Given the description of an element on the screen output the (x, y) to click on. 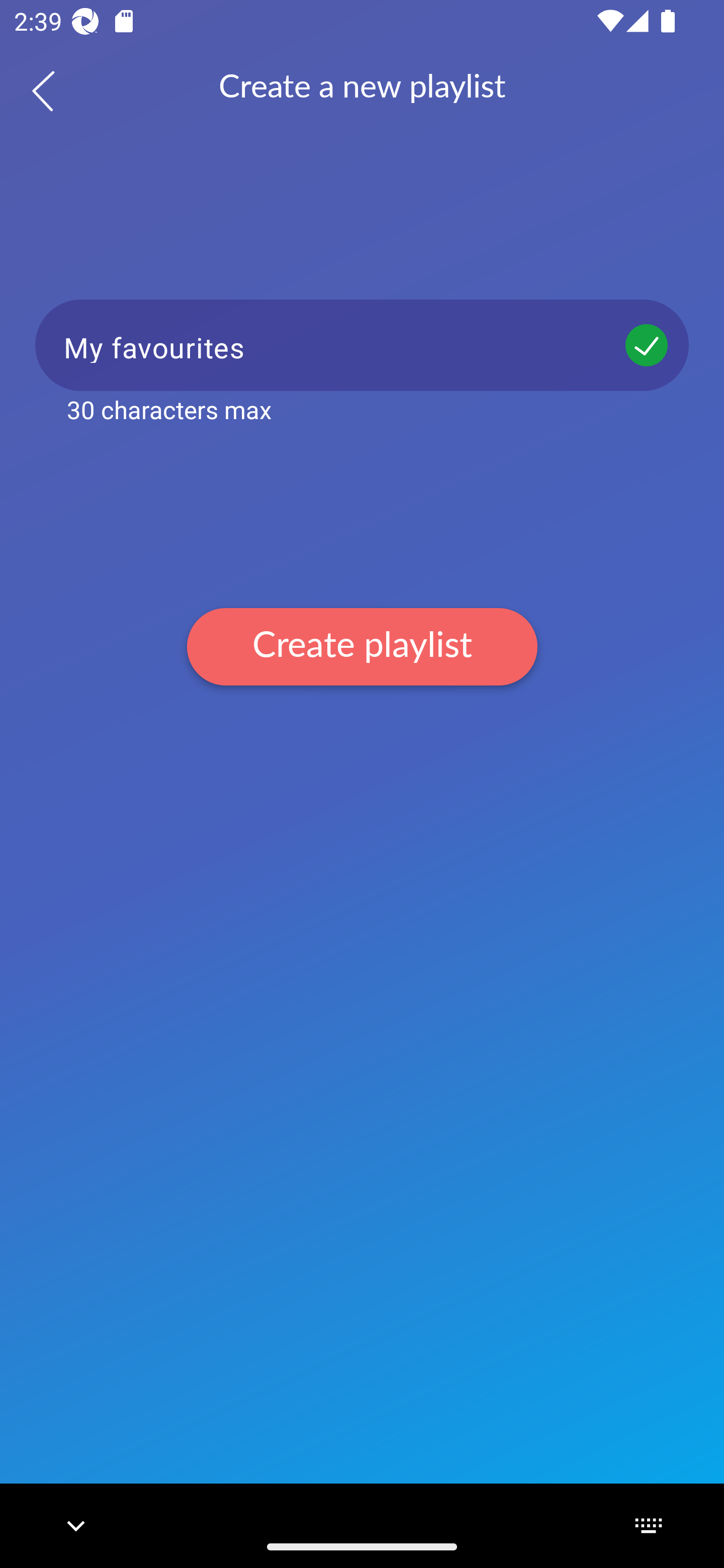
My favourites (361, 344)
Create playlist (362, 646)
